Given the description of an element on the screen output the (x, y) to click on. 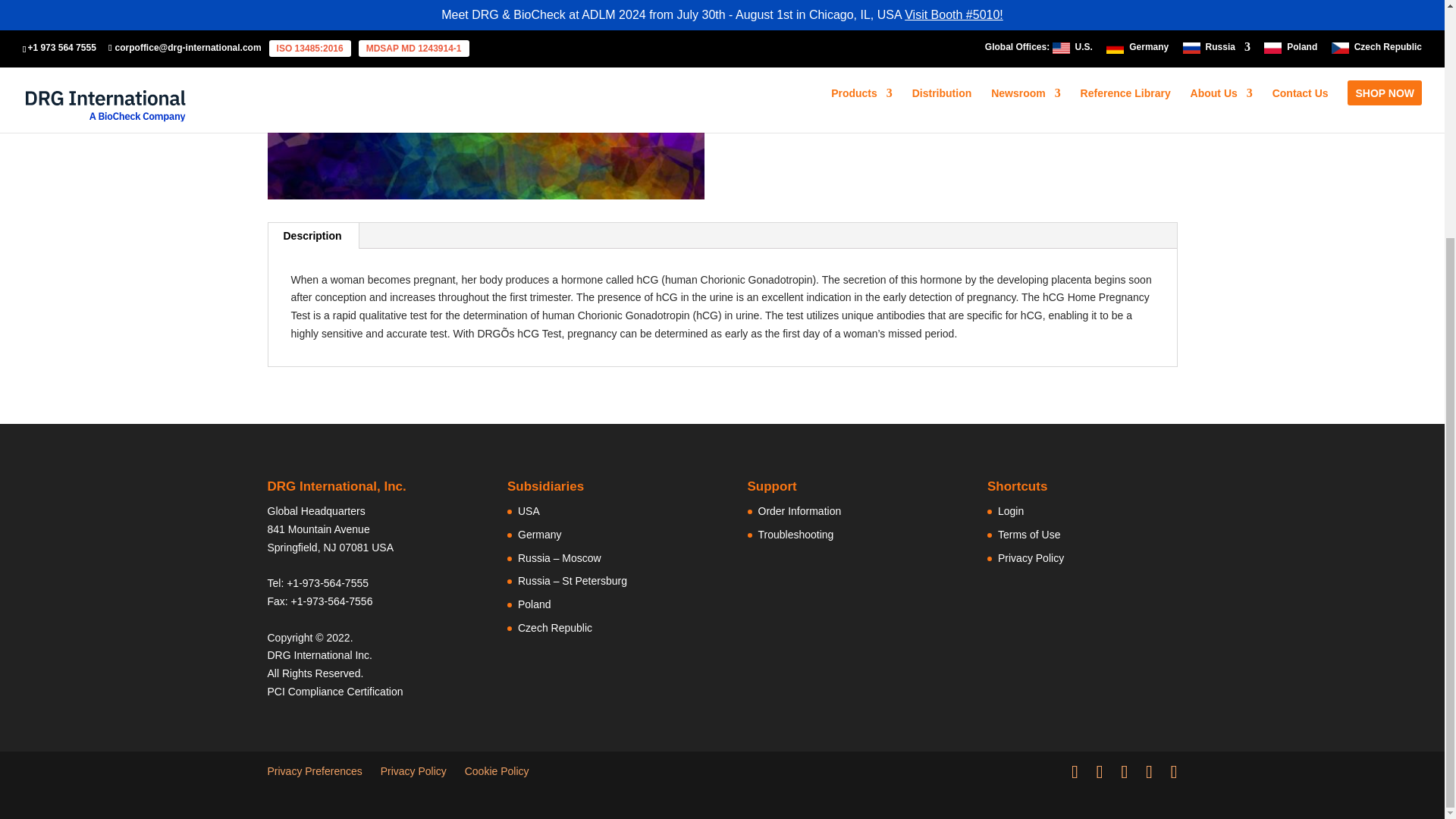
HCG 1 (484, 99)
